Given the description of an element on the screen output the (x, y) to click on. 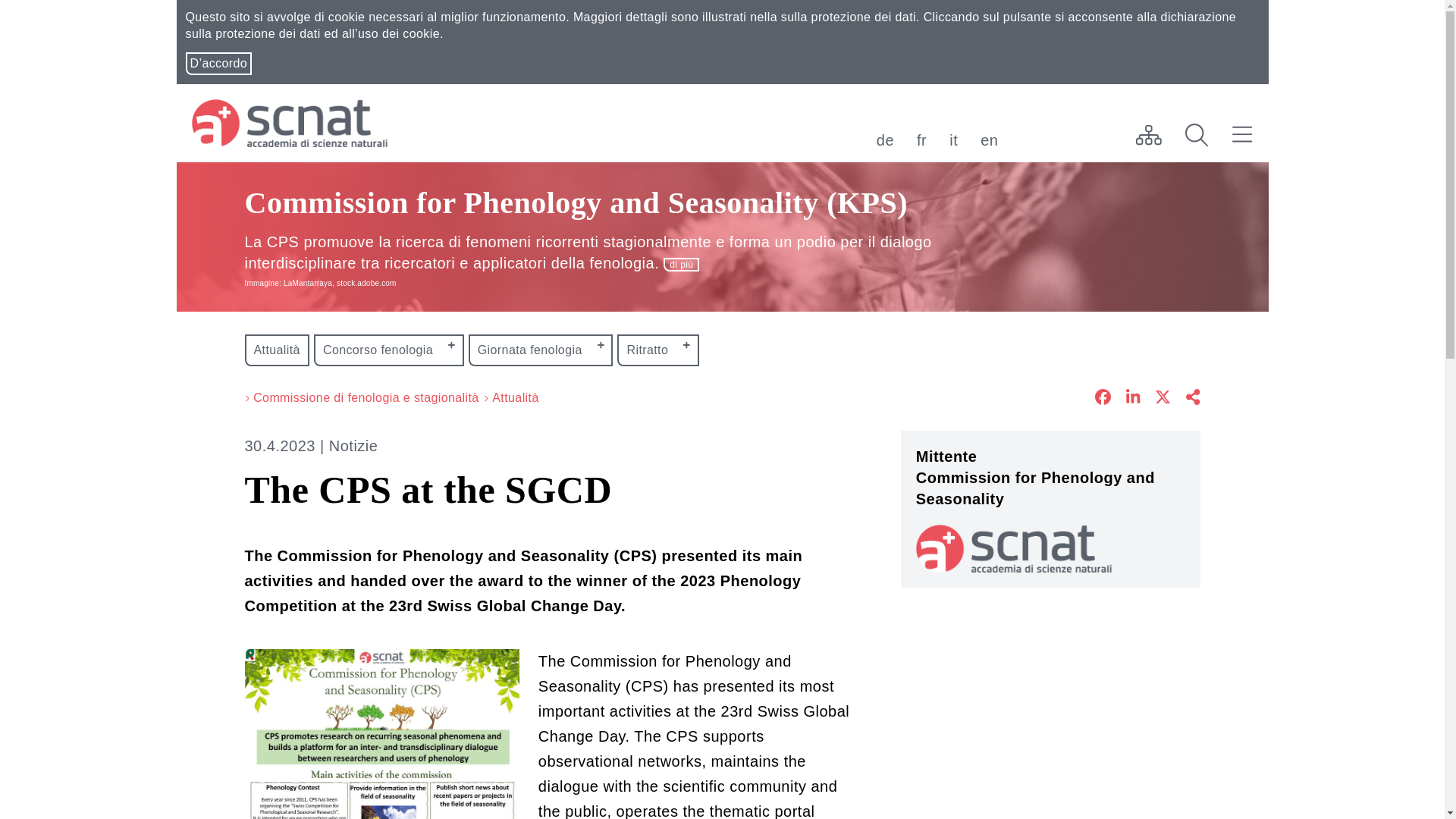
en (988, 140)
protezione dei dati (862, 16)
Concorso fenologia (389, 349)
Giornata fenologia (540, 349)
Ritratto (657, 349)
de (884, 140)
